Given the description of an element on the screen output the (x, y) to click on. 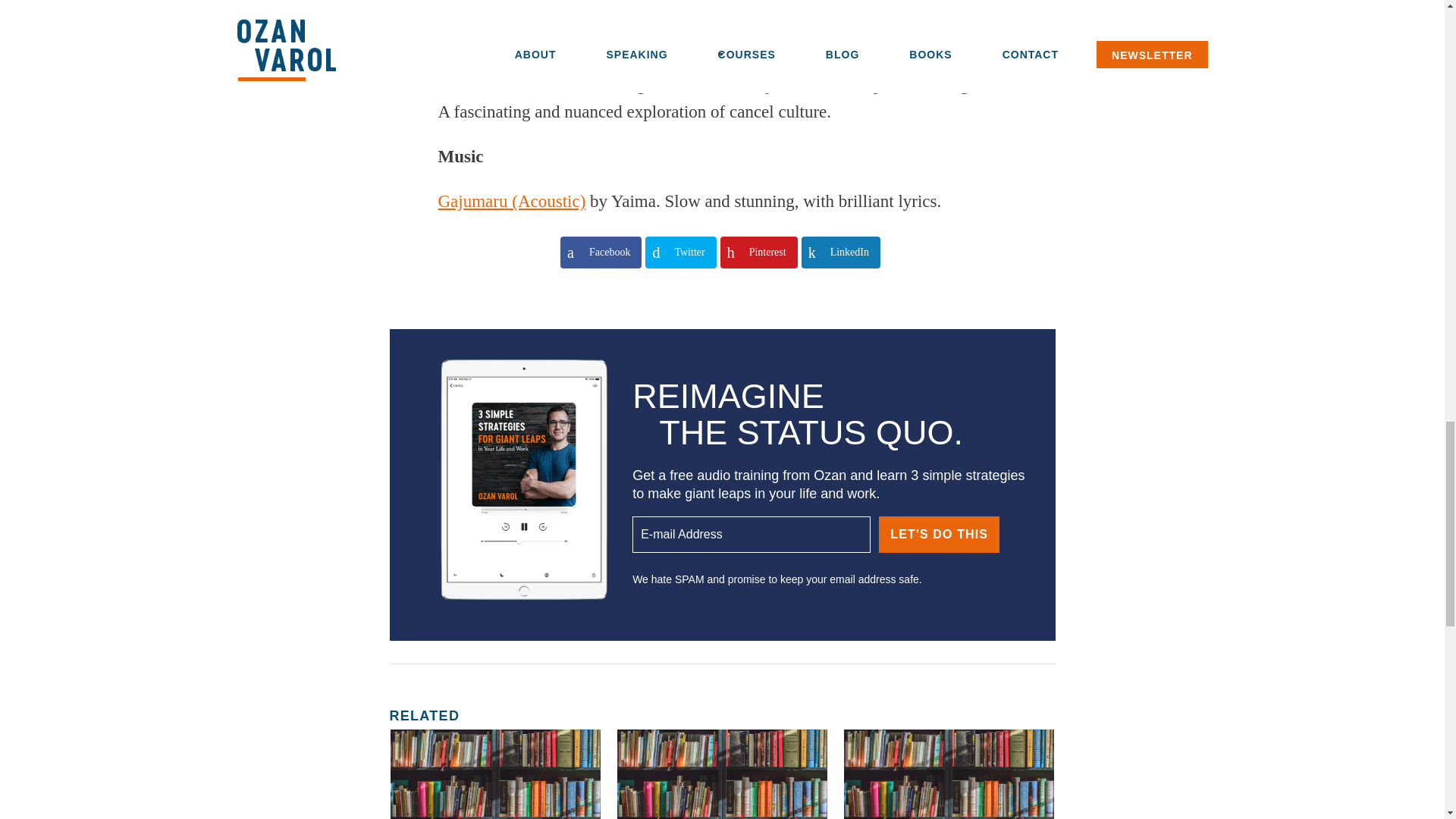
Share on LinkedIn (841, 252)
Share on Twitter (680, 252)
Share on Pinterest (758, 252)
The Witch Trials of JK Rowling (548, 56)
Twitter (680, 252)
Facebook (601, 252)
Pinterest (758, 252)
Share on Facebook (601, 252)
